Given the description of an element on the screen output the (x, y) to click on. 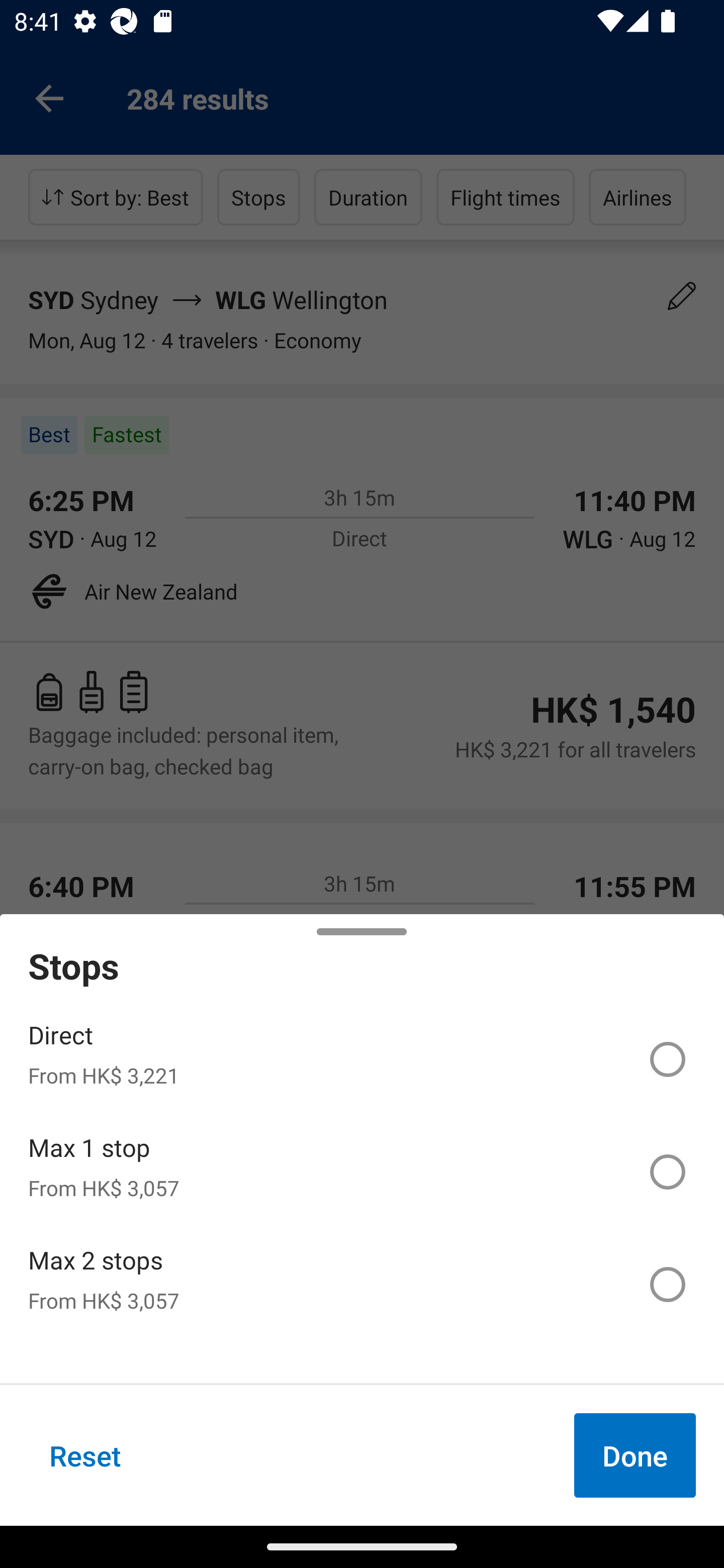
Direct From HK$ 3,221 (362, 1059)
Max 1 stop From HK$ 3,057 (362, 1171)
Max 2 stops From HK$ 3,057 (362, 1283)
Reset (85, 1454)
Done (634, 1454)
